Given the description of an element on the screen output the (x, y) to click on. 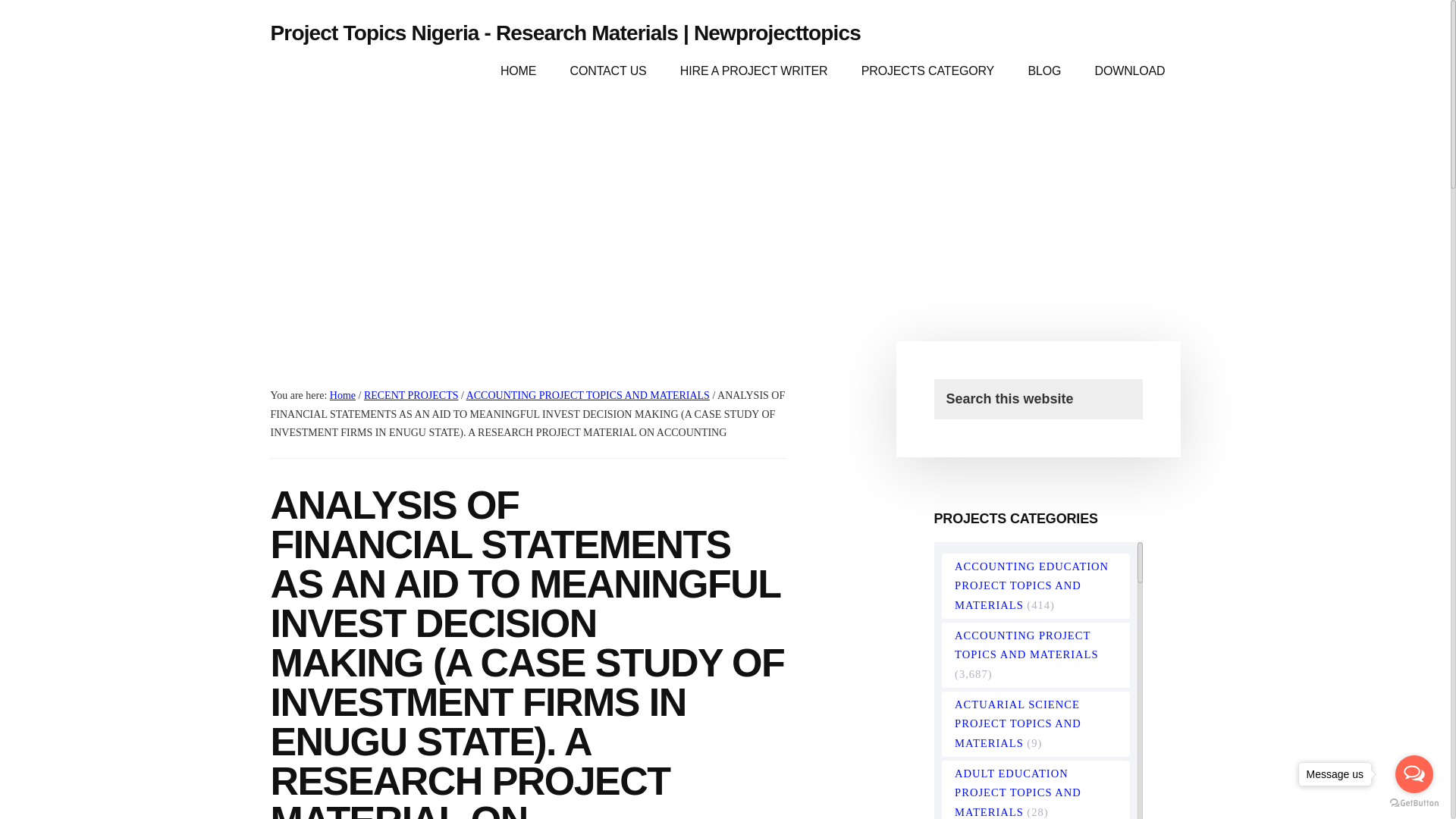
DOWNLOAD (1130, 70)
CONTACT US (608, 70)
HIRE A PROJECT WRITER (754, 70)
RECENT PROJECTS (411, 395)
BLOG (1043, 70)
HOME (517, 70)
Home (342, 395)
PROJECTS CATEGORY (927, 70)
ACCOUNTING PROJECT TOPICS AND MATERIALS (587, 395)
